Given the description of an element on the screen output the (x, y) to click on. 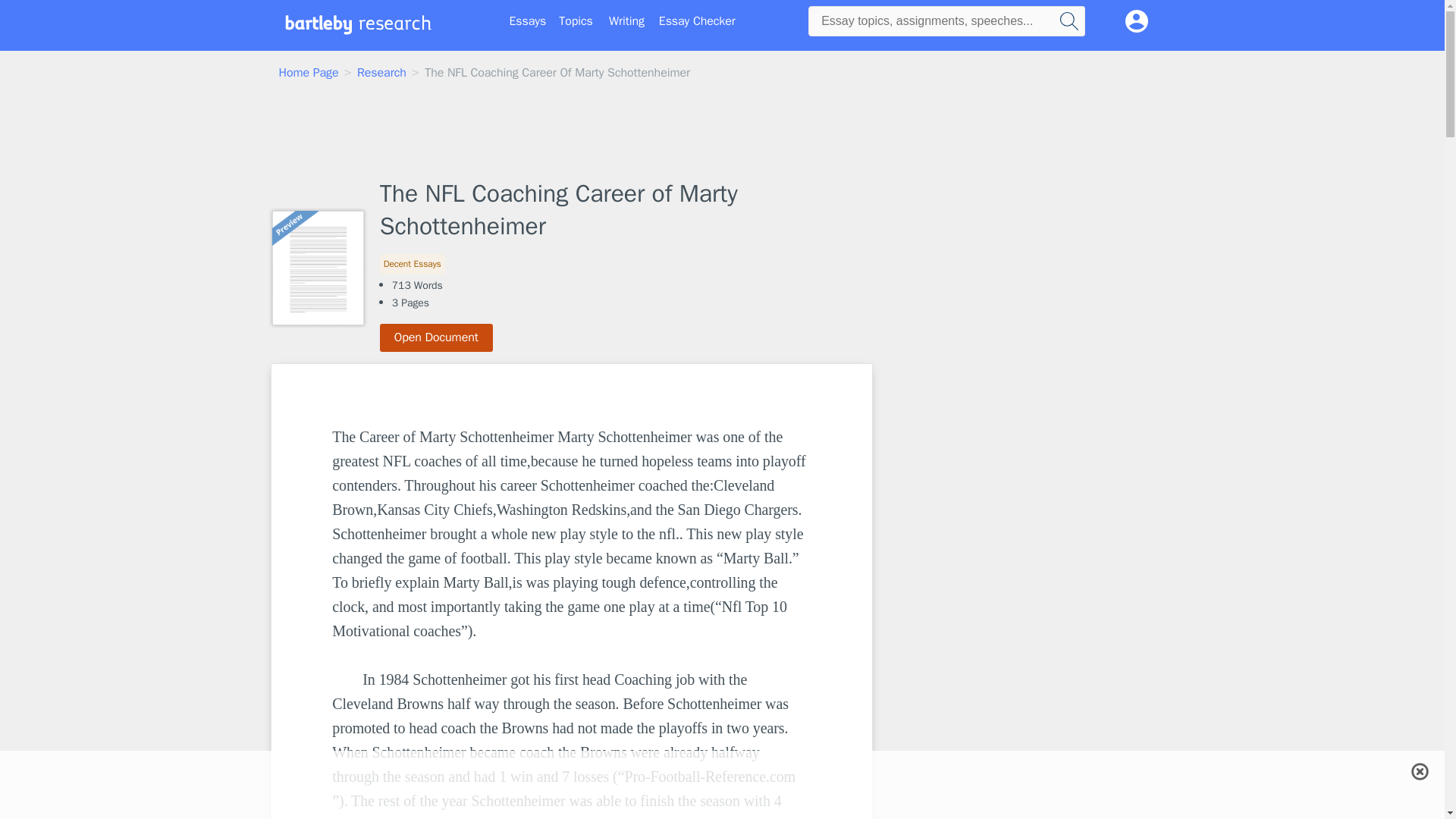
Essay Checker (697, 20)
Essays (528, 20)
Research (381, 72)
3rd party ad content (997, 457)
3rd party ad content (721, 769)
3rd party ad content (722, 131)
Writing (626, 20)
Open Document (436, 337)
Topics (575, 20)
Home Page (309, 72)
3rd party ad content (997, 698)
